Given the description of an element on the screen output the (x, y) to click on. 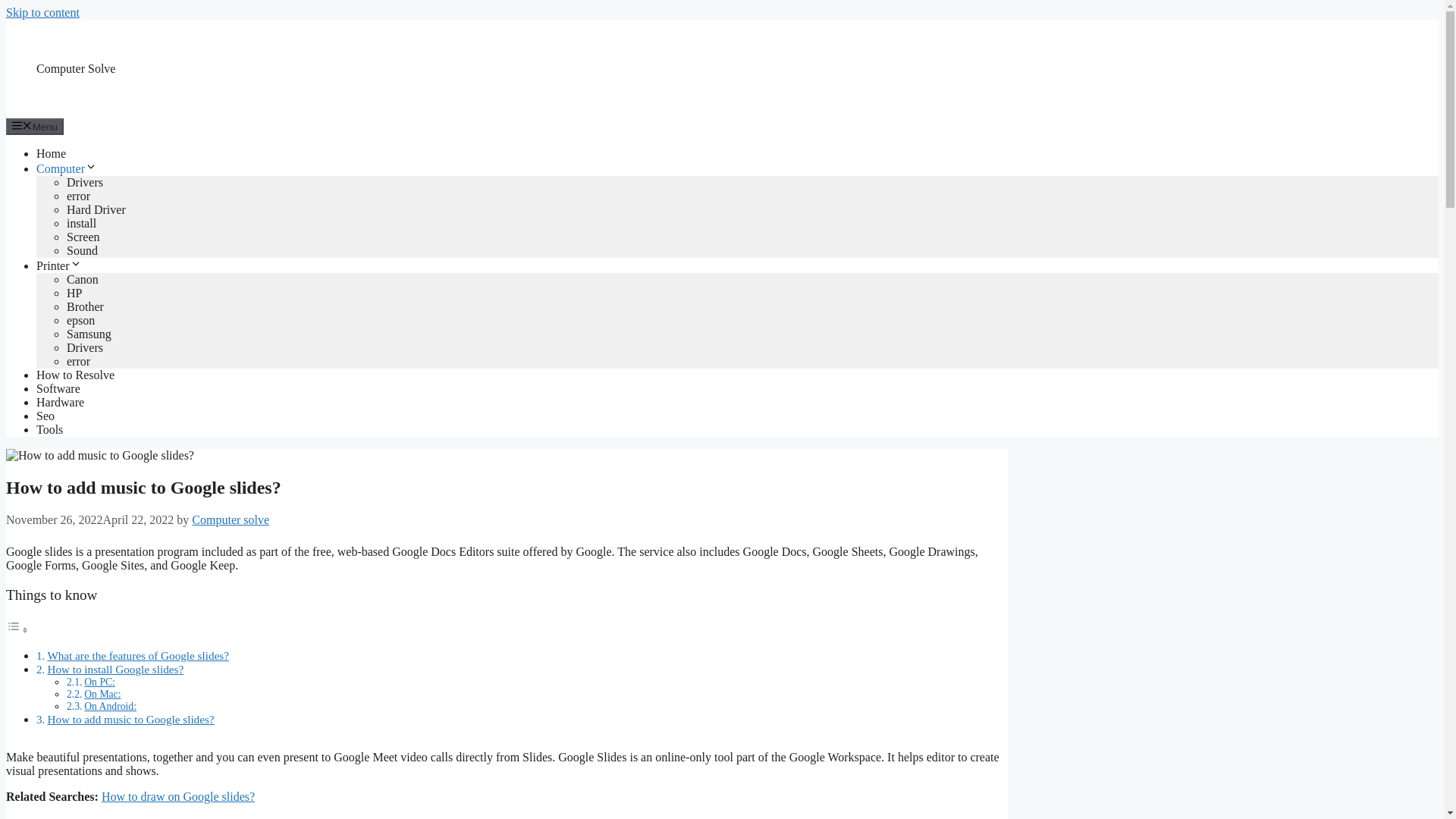
On PC: (99, 681)
What are the features of Google slides? (137, 655)
How to add music to Google slides? (130, 718)
Computer Solve (75, 68)
How to add music to Google slides? (130, 718)
error (78, 195)
How to draw on Google slides? (177, 796)
Seo (45, 415)
Printer (58, 265)
On Android: (110, 706)
